Given the description of an element on the screen output the (x, y) to click on. 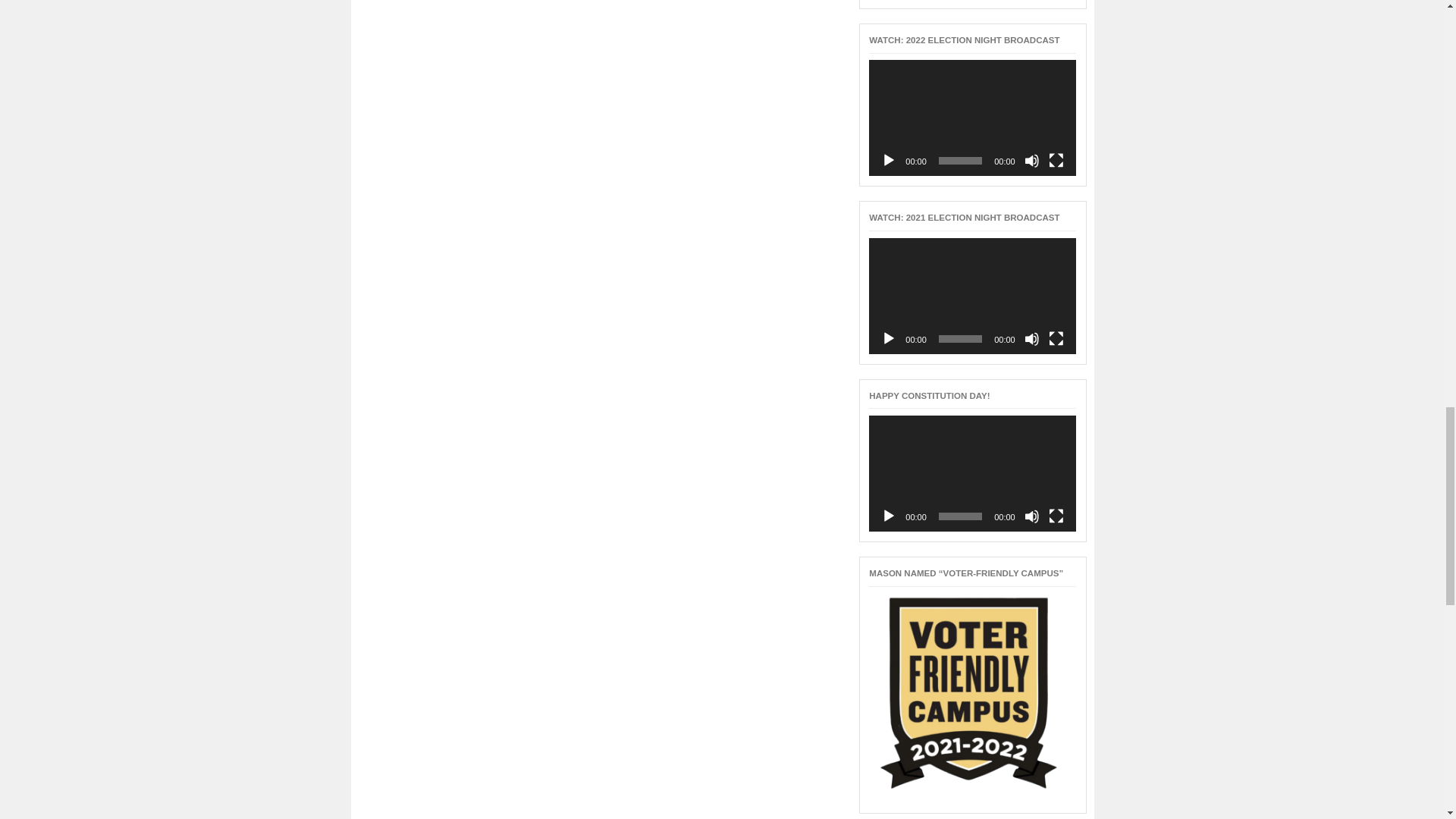
Mute (1032, 160)
Play (888, 160)
